Given the description of an element on the screen output the (x, y) to click on. 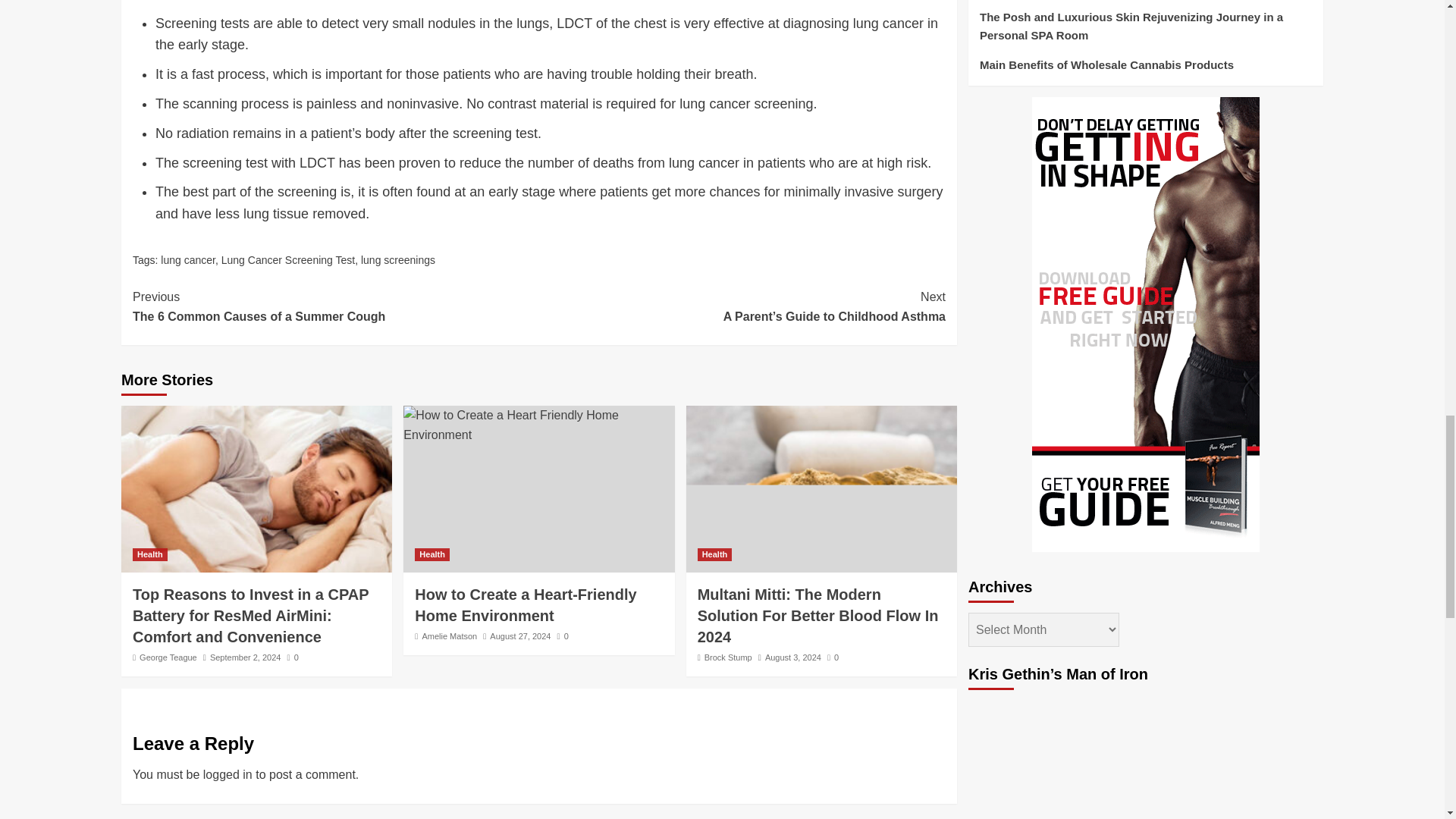
Amelie Matson (449, 635)
Lung Cancer Screening Test (288, 259)
Health (431, 554)
September 2, 2024 (245, 656)
August 27, 2024 (519, 635)
Health (335, 306)
How to Create a Heart-Friendly Home Environment (149, 554)
lung cancer (525, 605)
lung screenings (187, 259)
